Given the description of an element on the screen output the (x, y) to click on. 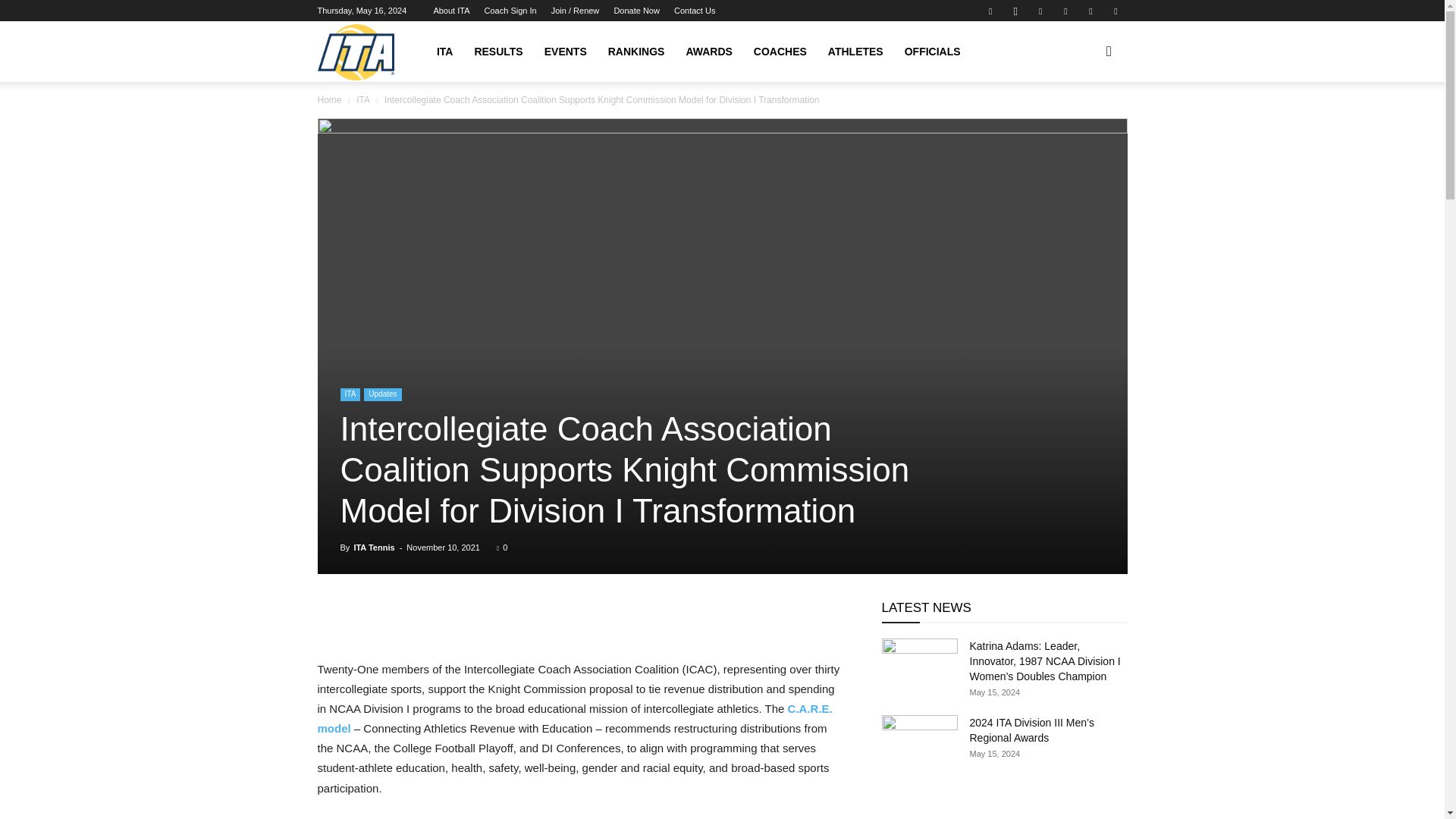
Youtube (1114, 10)
Instagram (1015, 10)
Linkedin (1040, 10)
Facebook (989, 10)
Twitter (1090, 10)
TikTok (1065, 10)
